Given the description of an element on the screen output the (x, y) to click on. 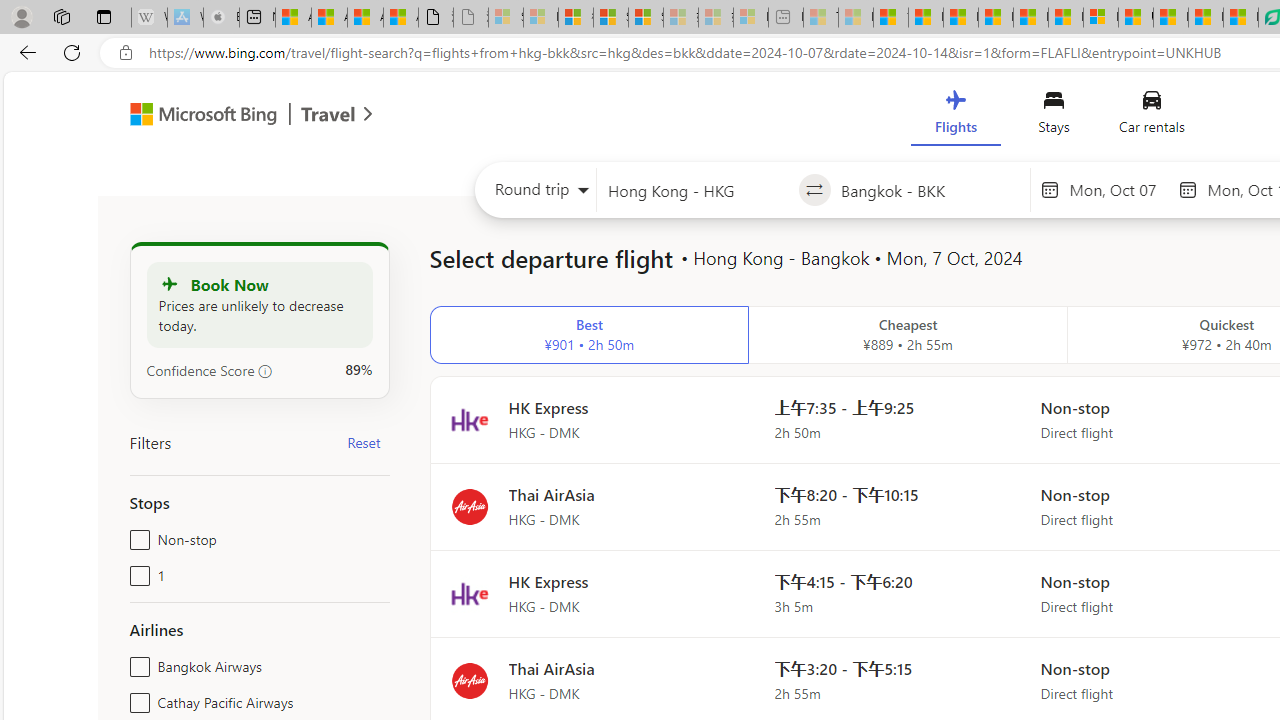
Microsoft account | Account Checkup - Sleeping (750, 17)
Microsoft Services Agreement - Sleeping (540, 17)
Buy iPad - Apple - Sleeping (221, 17)
Class: msft-bing-logo msft-bing-logo-desktop (198, 114)
Select trip type (535, 193)
Start Date (1118, 189)
Food and Drink - MSN (925, 17)
Cathay Pacific Airways (136, 698)
1 (136, 571)
